Given the description of an element on the screen output the (x, y) to click on. 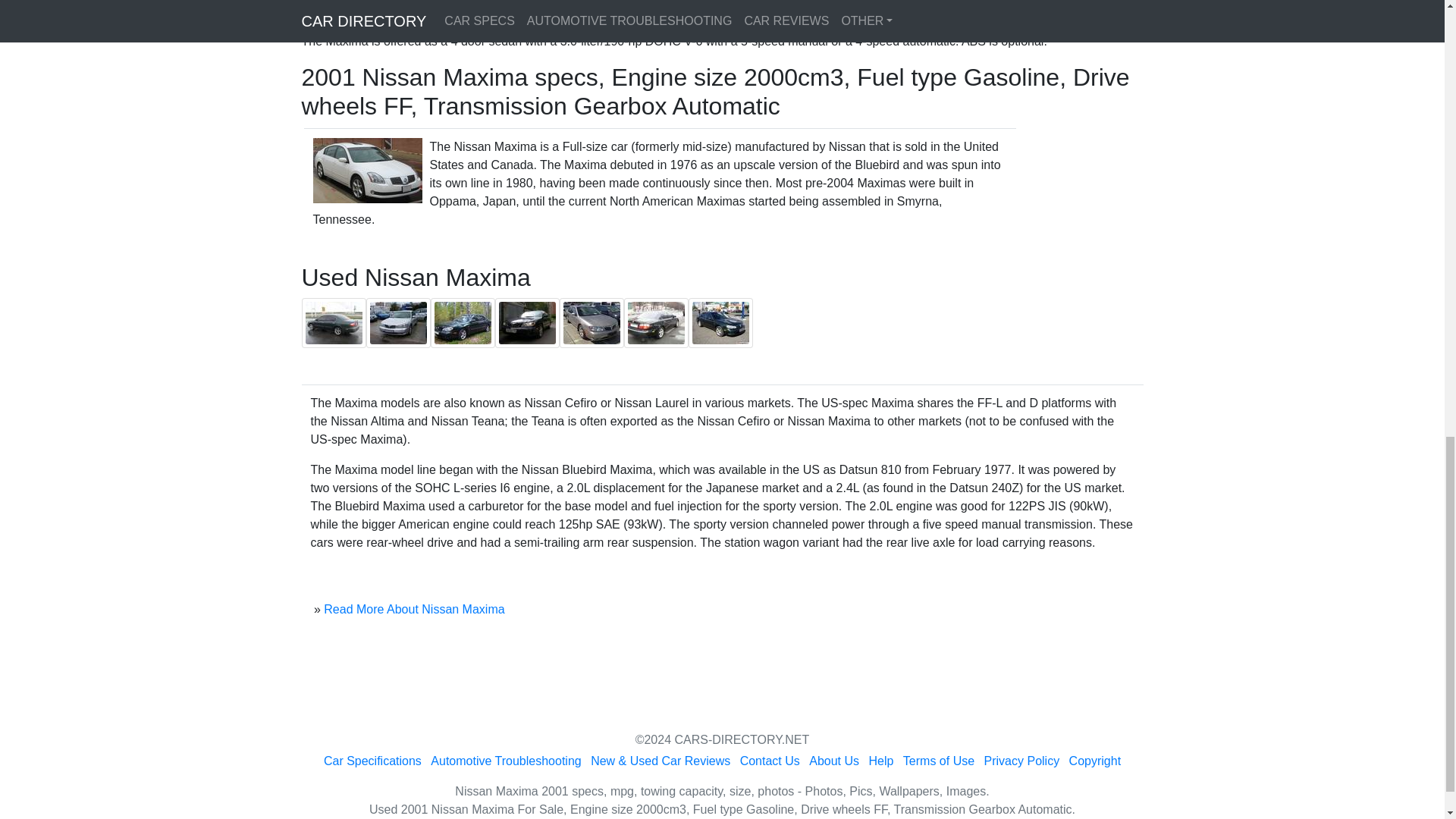
Car Specifications (372, 760)
About Us (834, 760)
Add Comment (956, 2)
The full specification on the Nissan Maxima (375, 2)
Nissan Maxima Specs (375, 2)
Report to Moderator (1074, 2)
Read More About Nissan Maxima (413, 608)
Automotive Troubleshooting (505, 760)
Contact Us (769, 760)
Write a Review (854, 2)
Do you have problems with car? (702, 2)
Nissan Maxima Reviews (525, 2)
